Given the description of an element on the screen output the (x, y) to click on. 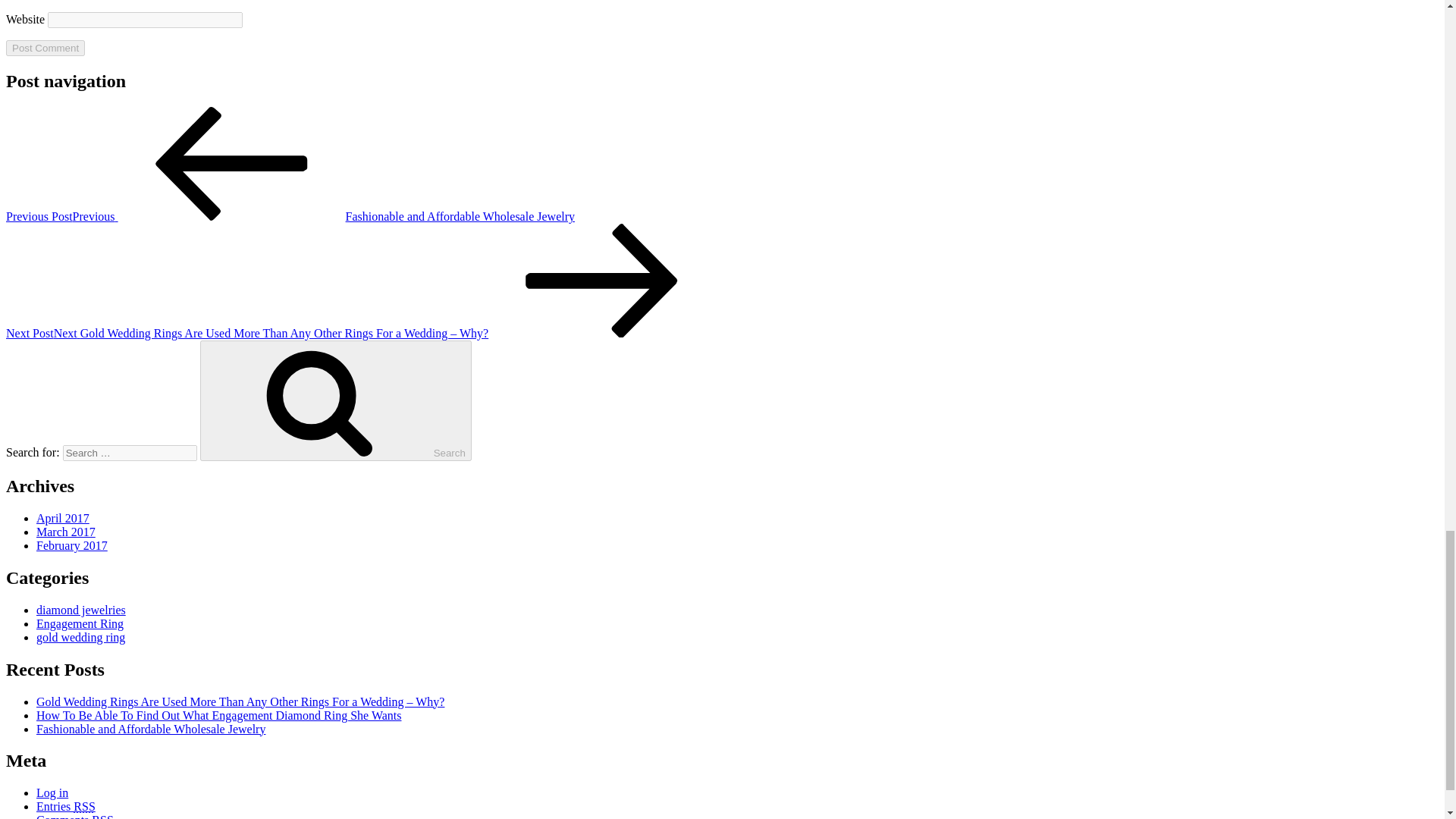
Comments RSS (74, 816)
Really Simple Syndication (84, 806)
Entries RSS (66, 806)
March 2017 (66, 531)
Fashionable and Affordable Wholesale Jewelry (150, 727)
April 2017 (62, 517)
Post Comment (44, 48)
Really Simple Syndication (102, 816)
diamond jewelries (80, 609)
